Given the description of an element on the screen output the (x, y) to click on. 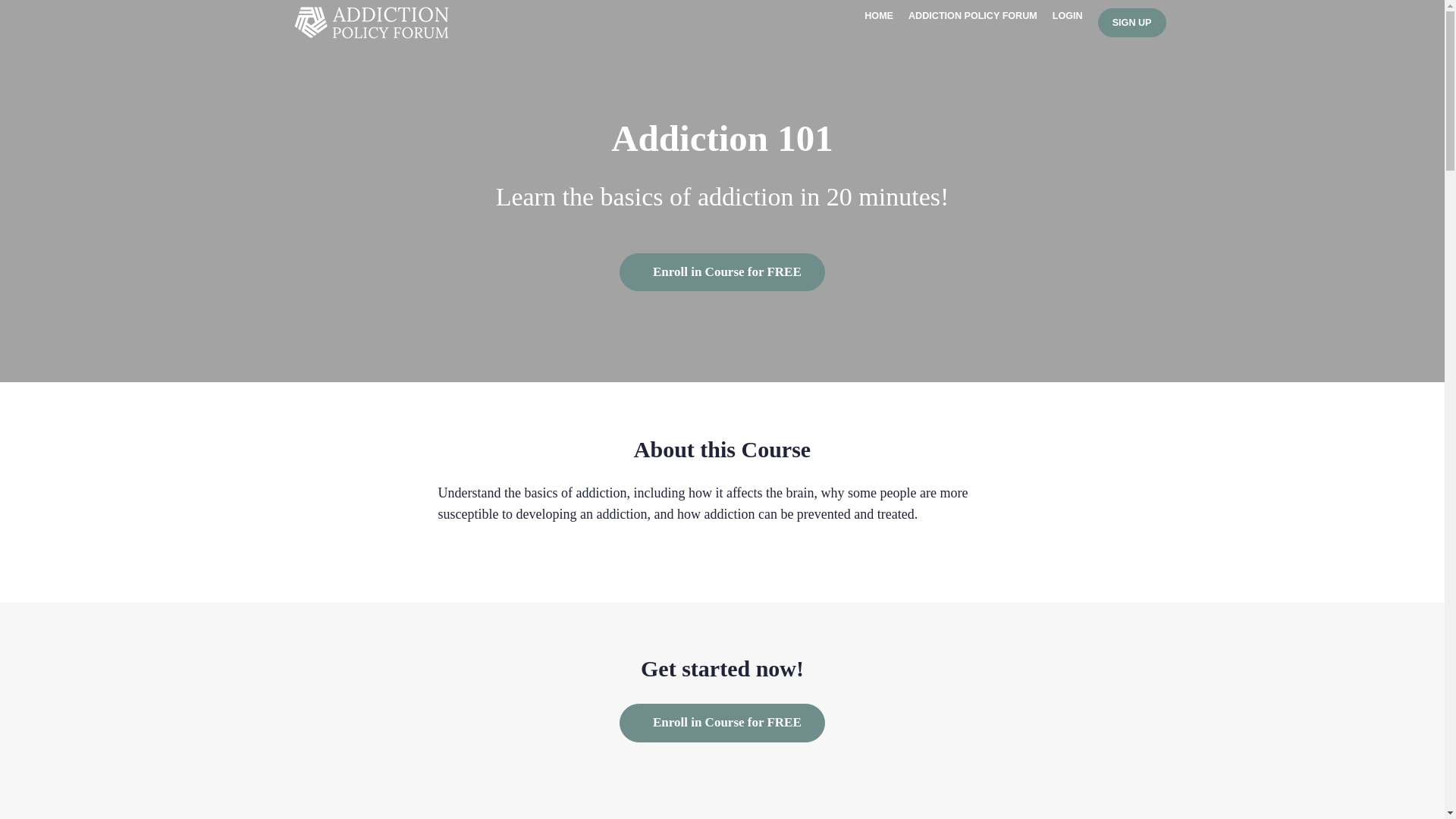
ADDICTION POLICY FORUM (973, 15)
HOME (879, 15)
   Enroll in Course for FREE (722, 272)
LOGIN (1067, 15)
SIGN UP (1131, 22)
   Enroll in Course for FREE (722, 722)
